Given the description of an element on the screen output the (x, y) to click on. 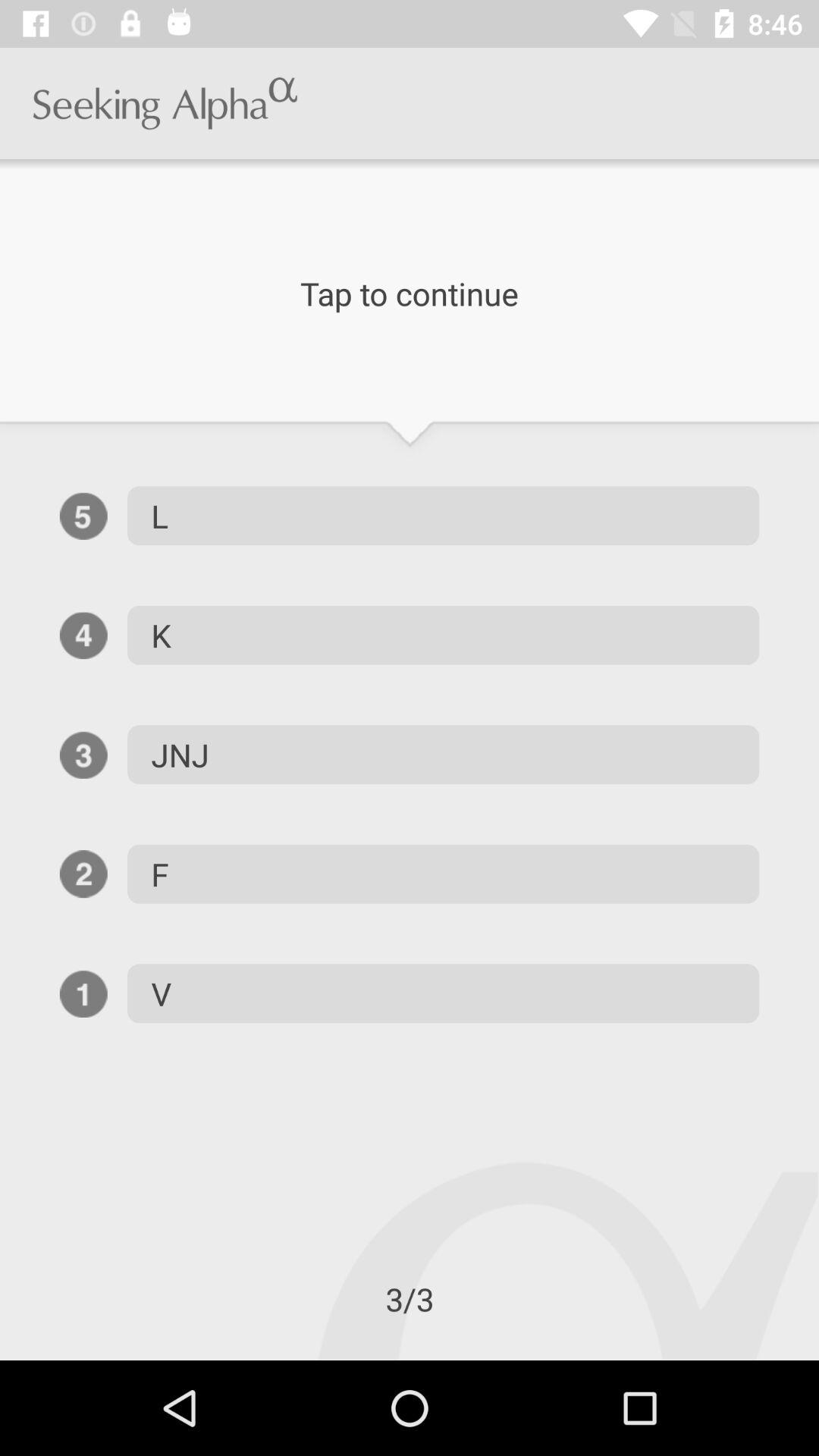
turn off item below 3/3 icon (0, 1359)
